Given the description of an element on the screen output the (x, y) to click on. 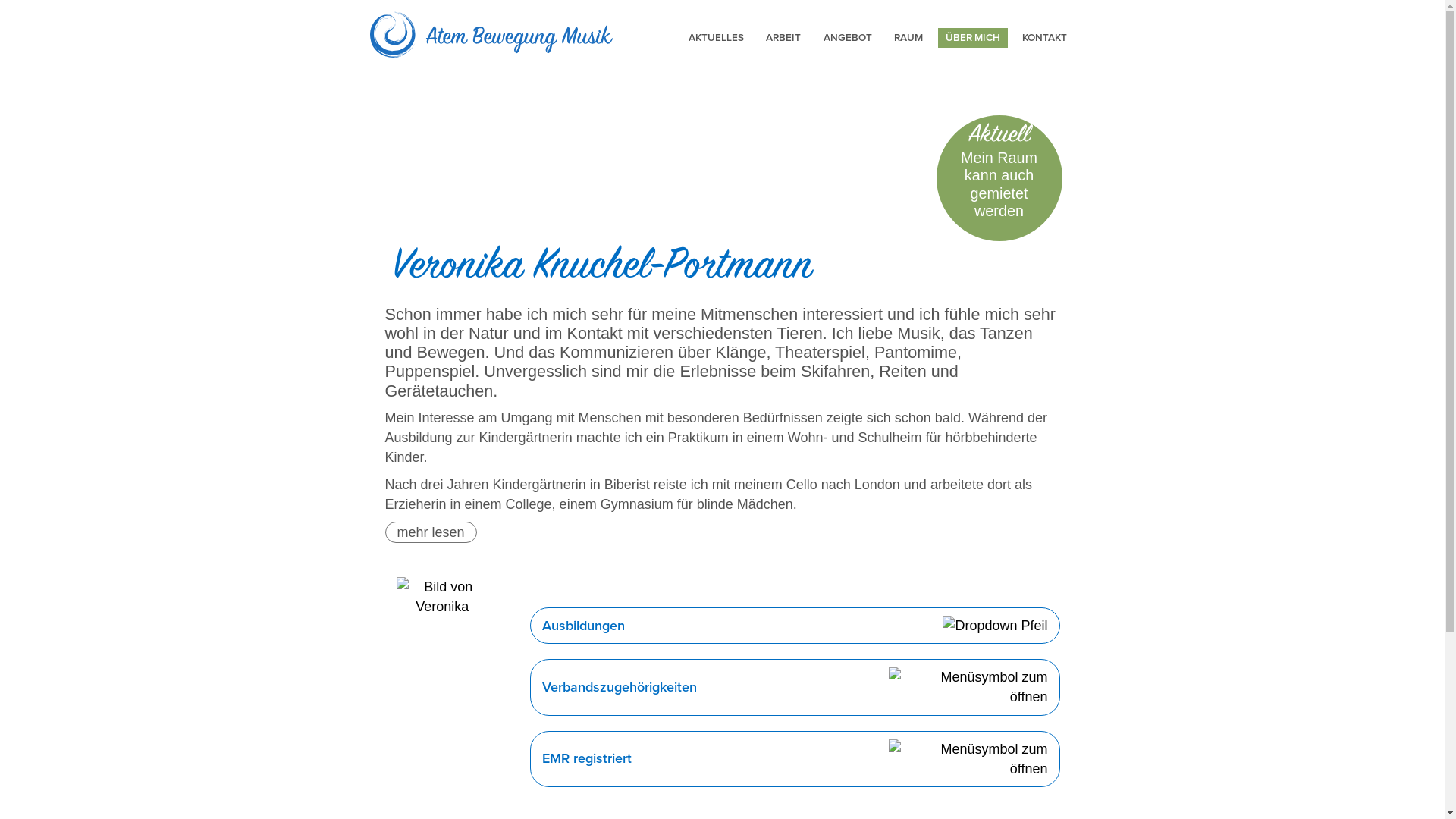
mehr lesen Element type: text (430, 531)
ANGEBOT Element type: text (847, 37)
zu RAUM Element type: text (998, 178)
ARBEIT Element type: text (783, 37)
KONTAKT Element type: text (1044, 37)
RAUM Element type: text (908, 37)
AKTUELLES Element type: text (715, 37)
